Given the description of an element on the screen output the (x, y) to click on. 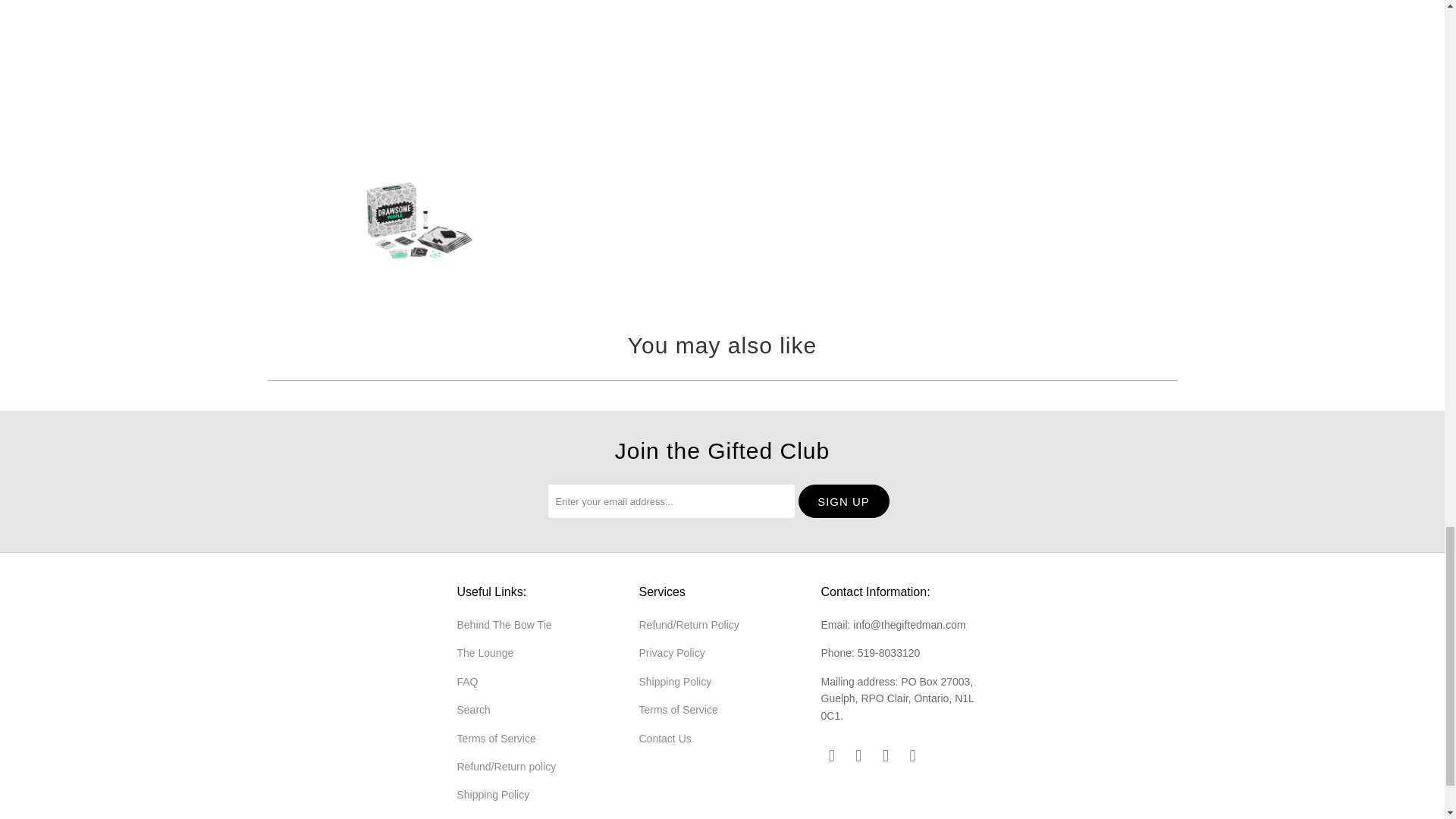
Sign Up (842, 500)
Email The Gifted Man (912, 755)
The Gifted Man on Facebook (832, 755)
The Gifted Man on Instagram (886, 755)
The Gifted Man on Pinterest (858, 755)
